Given the description of an element on the screen output the (x, y) to click on. 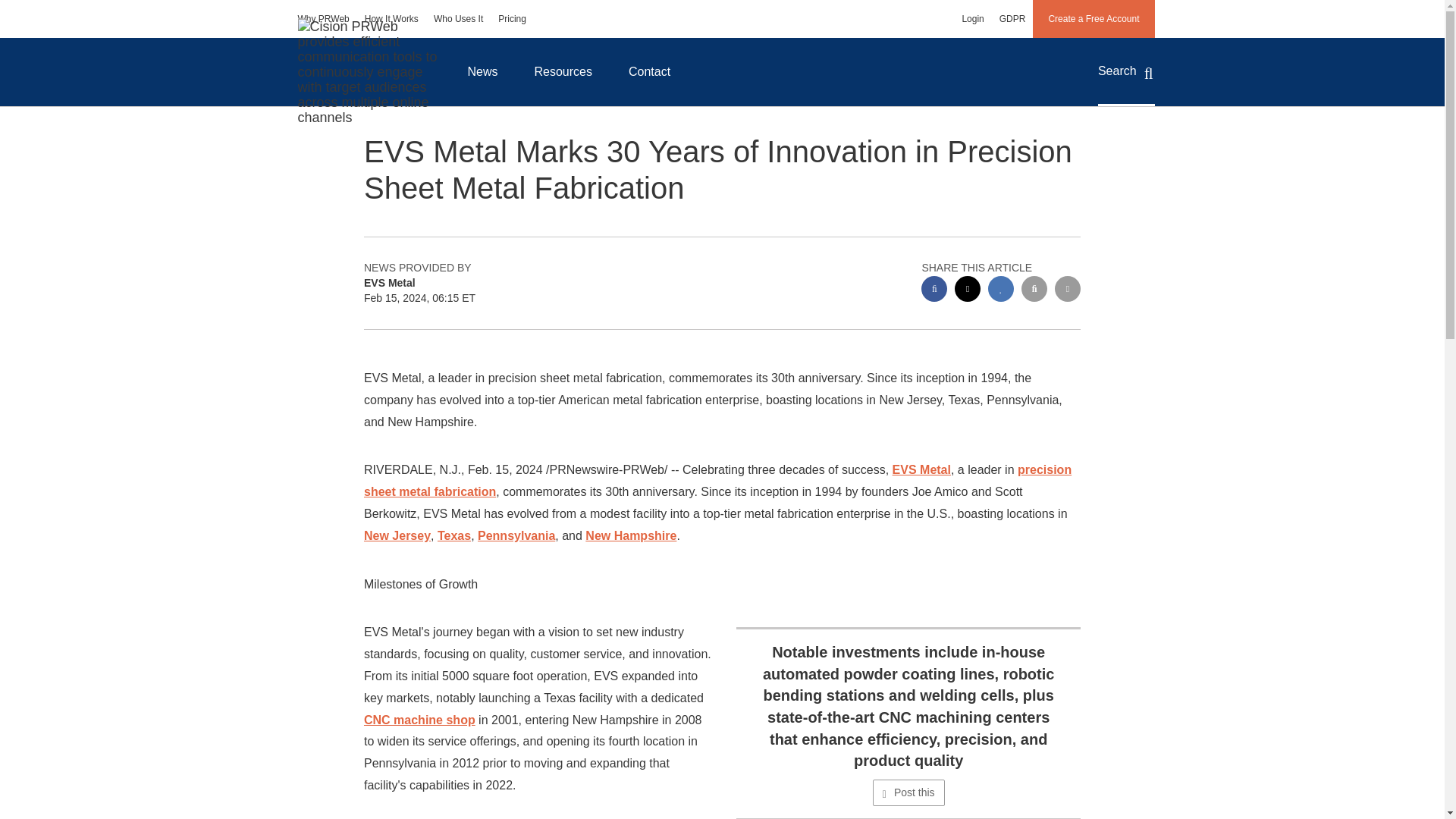
Why PRWeb (322, 18)
Contact (649, 71)
GDPR (1012, 18)
Pricing (512, 18)
News (481, 71)
How It Works (391, 18)
Create a Free Account (1093, 18)
Resources (563, 71)
Login (972, 18)
